Given the description of an element on the screen output the (x, y) to click on. 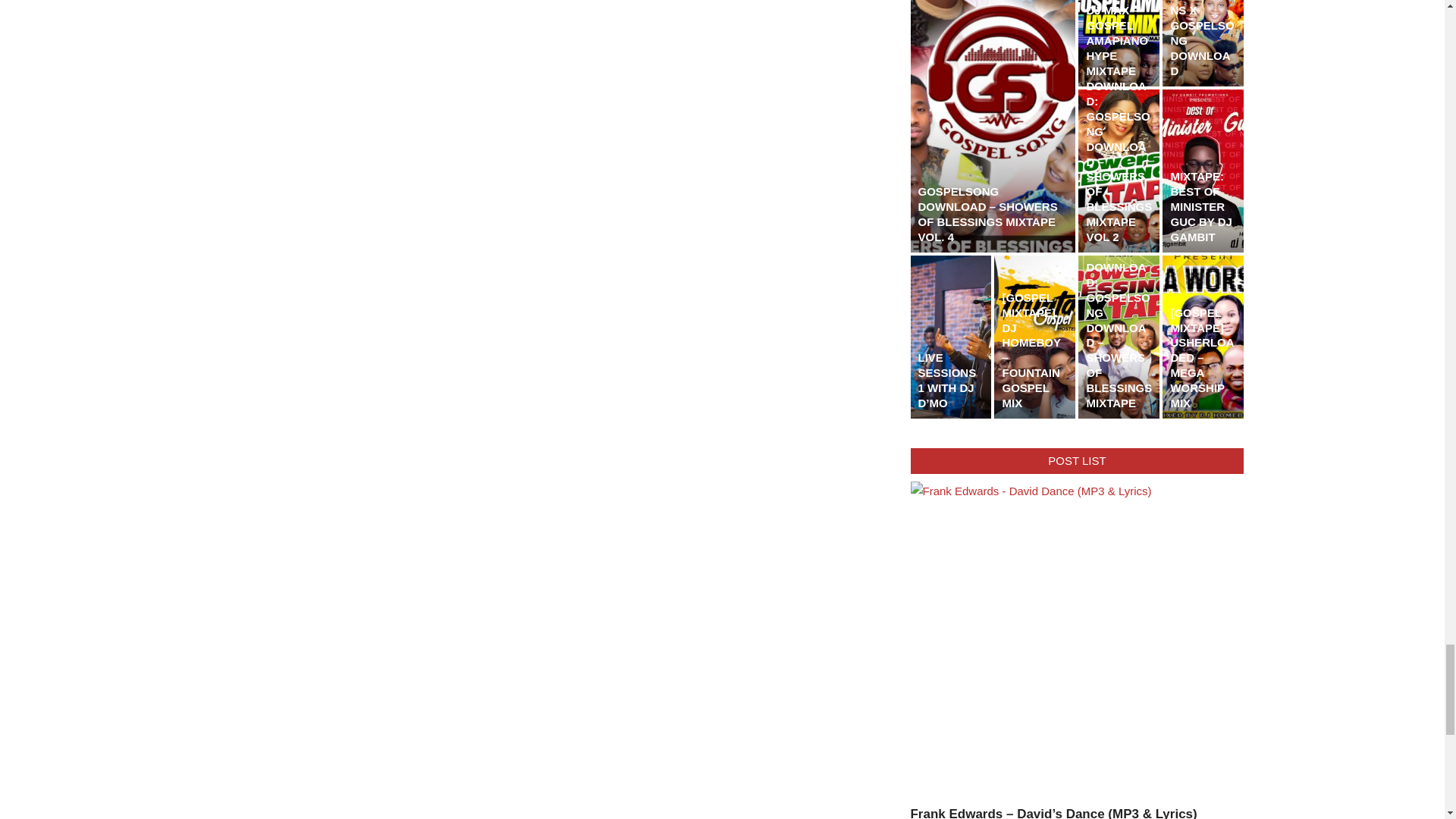
Comment Form (543, 20)
